Given the description of an element on the screen output the (x, y) to click on. 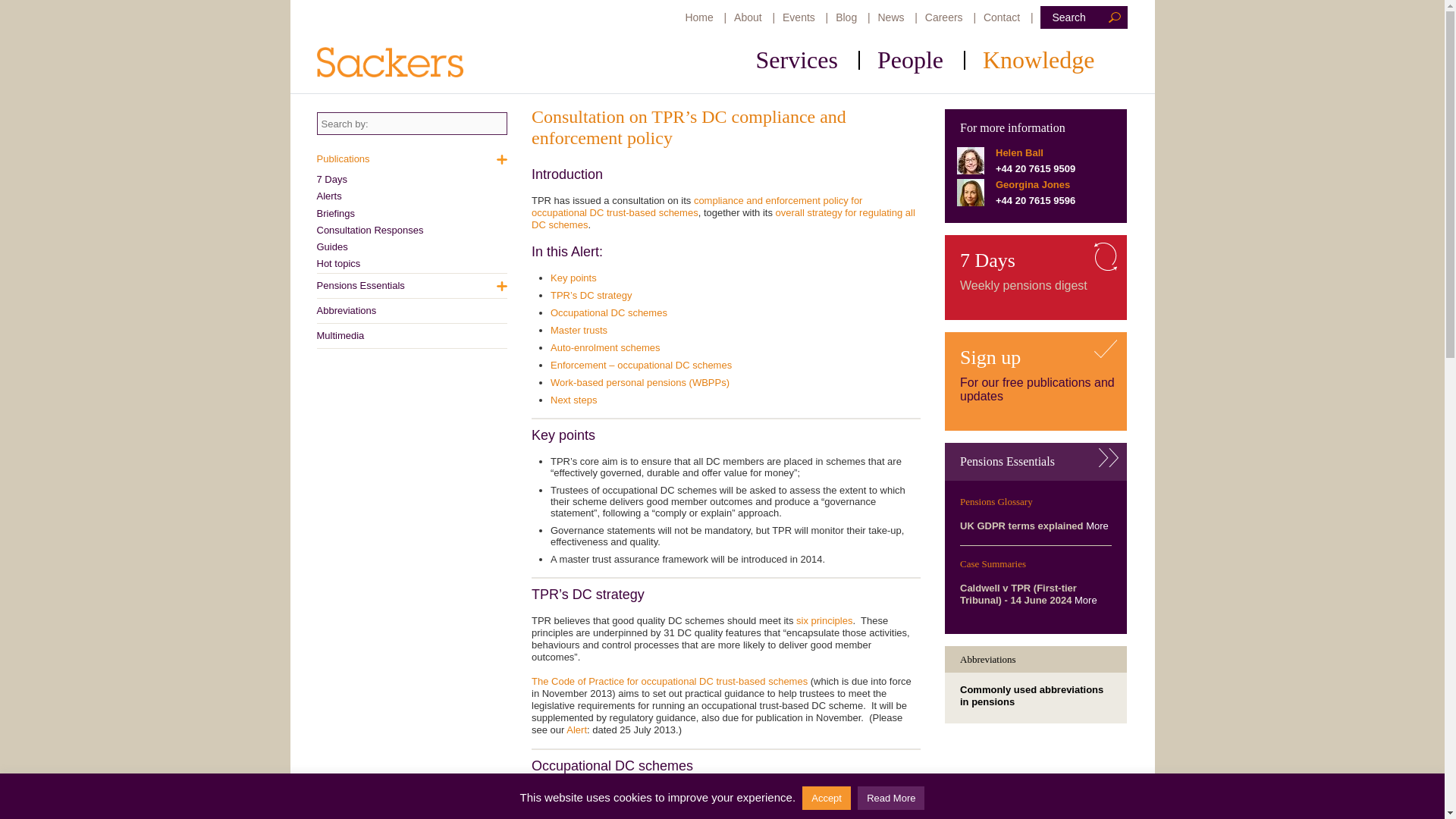
Search (1067, 17)
Knowledge (1053, 59)
Blog (846, 17)
7 Days (412, 179)
Pensions Essentials (412, 284)
Careers (943, 17)
News (890, 17)
Abbreviations (412, 310)
Multimedia (412, 334)
Services (811, 59)
People (925, 59)
Consultation Responses (412, 230)
Contact (1002, 17)
Briefings (412, 212)
About (747, 17)
